Given the description of an element on the screen output the (x, y) to click on. 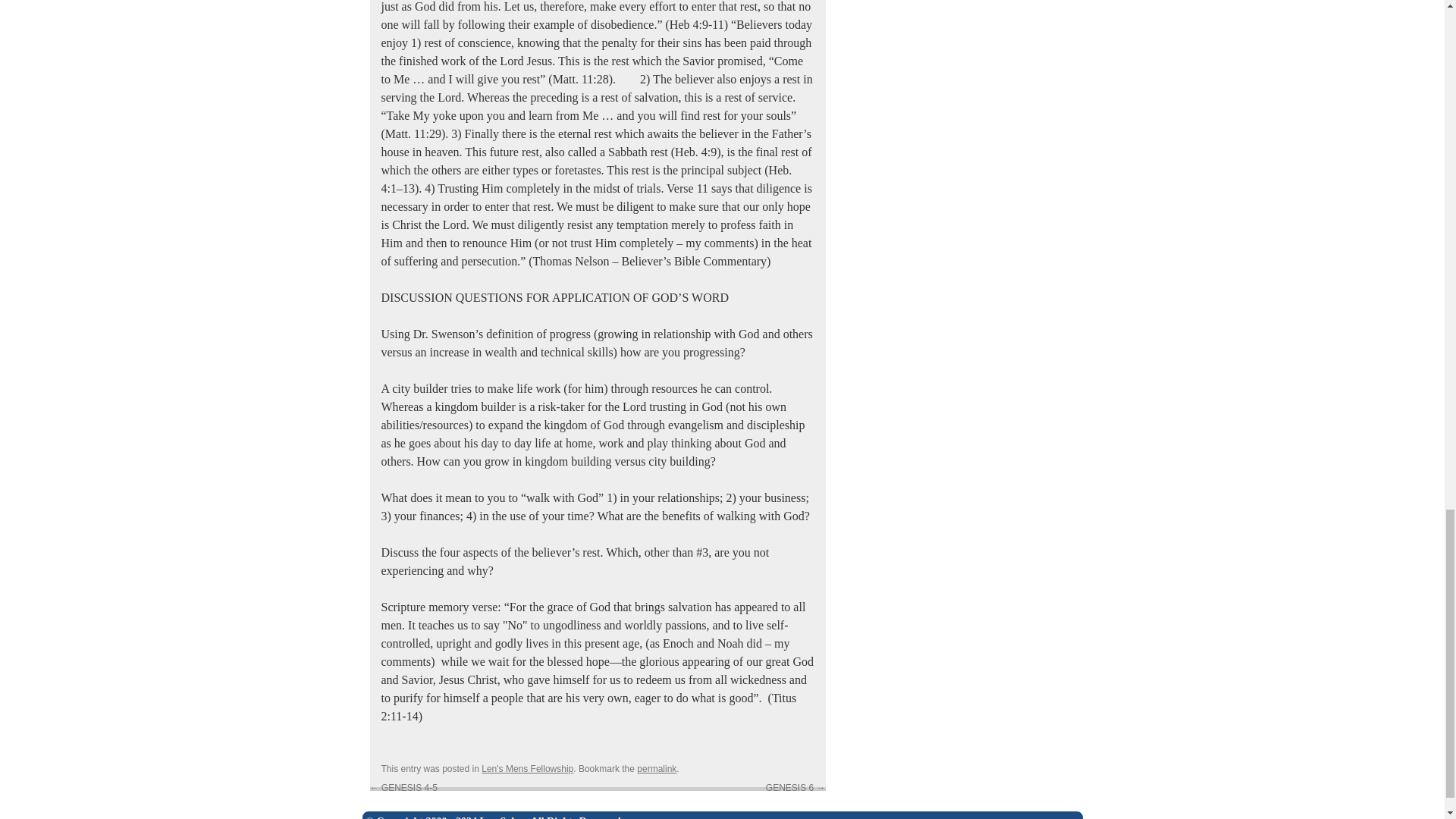
Len's Mens Fellowship (527, 768)
Permalink to GENESIS 4-5 (657, 768)
permalink (657, 768)
